Given the description of an element on the screen output the (x, y) to click on. 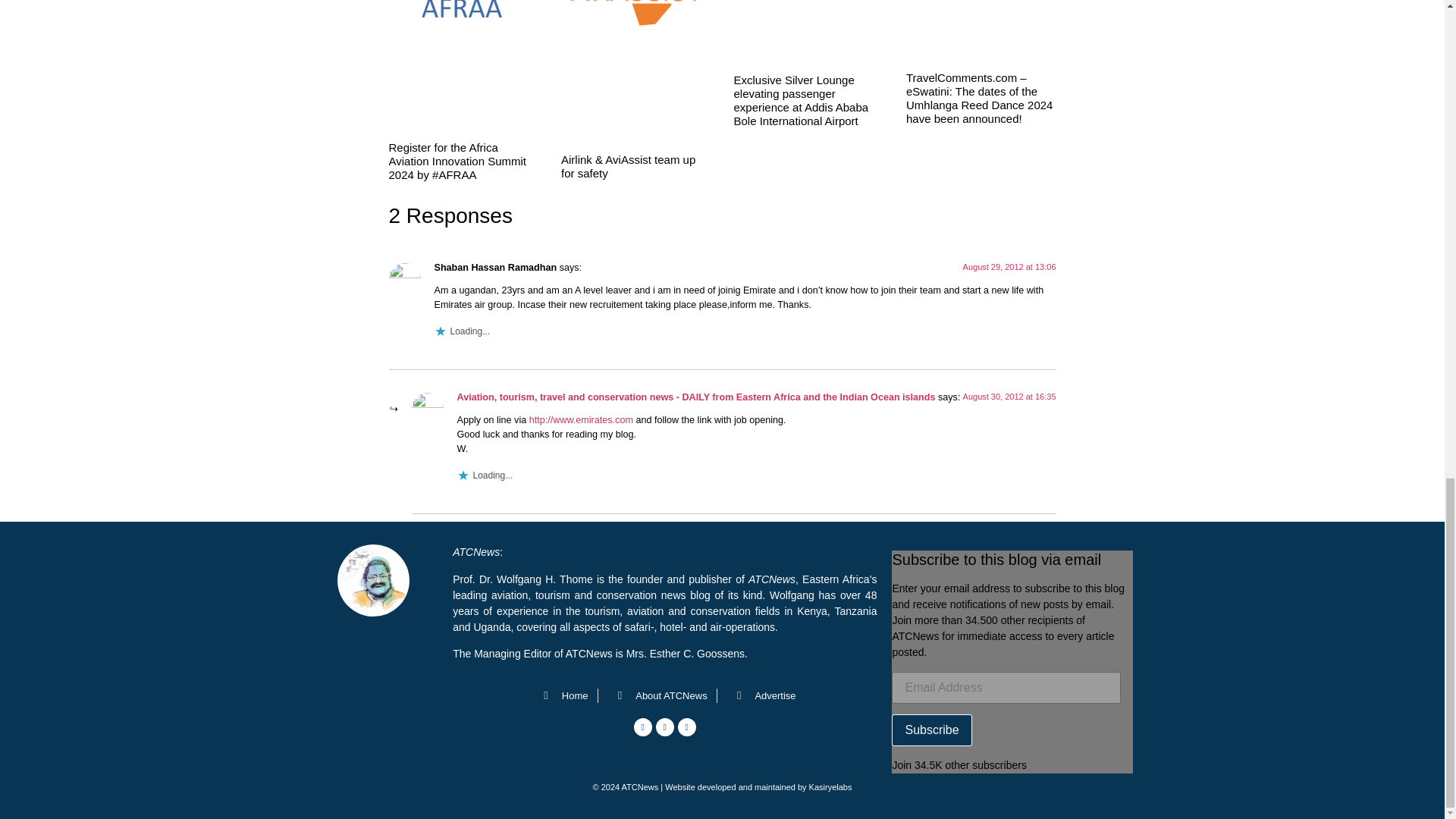
Advertise (761, 695)
Subscribe (931, 730)
August 30, 2012 at 16:35 (1009, 396)
August 29, 2012 at 13:06 (1009, 266)
Home (561, 695)
asiryelabs (832, 786)
About ATCNews (656, 695)
